Given the description of an element on the screen output the (x, y) to click on. 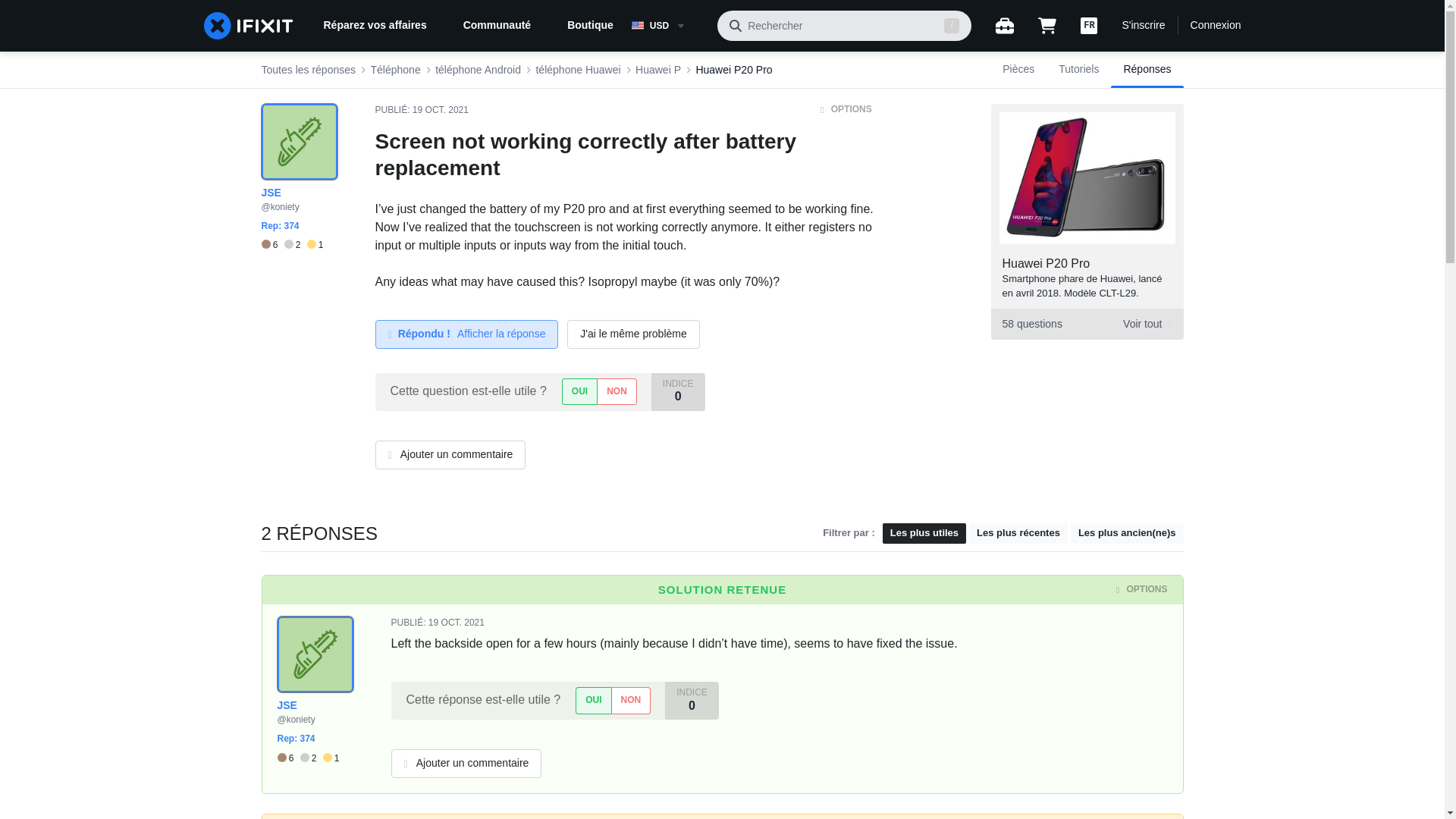
Tue, 19 Oct 2021 07:29:13 -0700 (440, 109)
Les plus utiles (924, 533)
6 2 1 (291, 245)
OUI (579, 391)
Huawei P20 Pro (1046, 263)
2 badges Argent (311, 707)
6 2 1 (1086, 323)
Boutique (308, 707)
Ajouter un commentaire (589, 25)
